Given the description of an element on the screen output the (x, y) to click on. 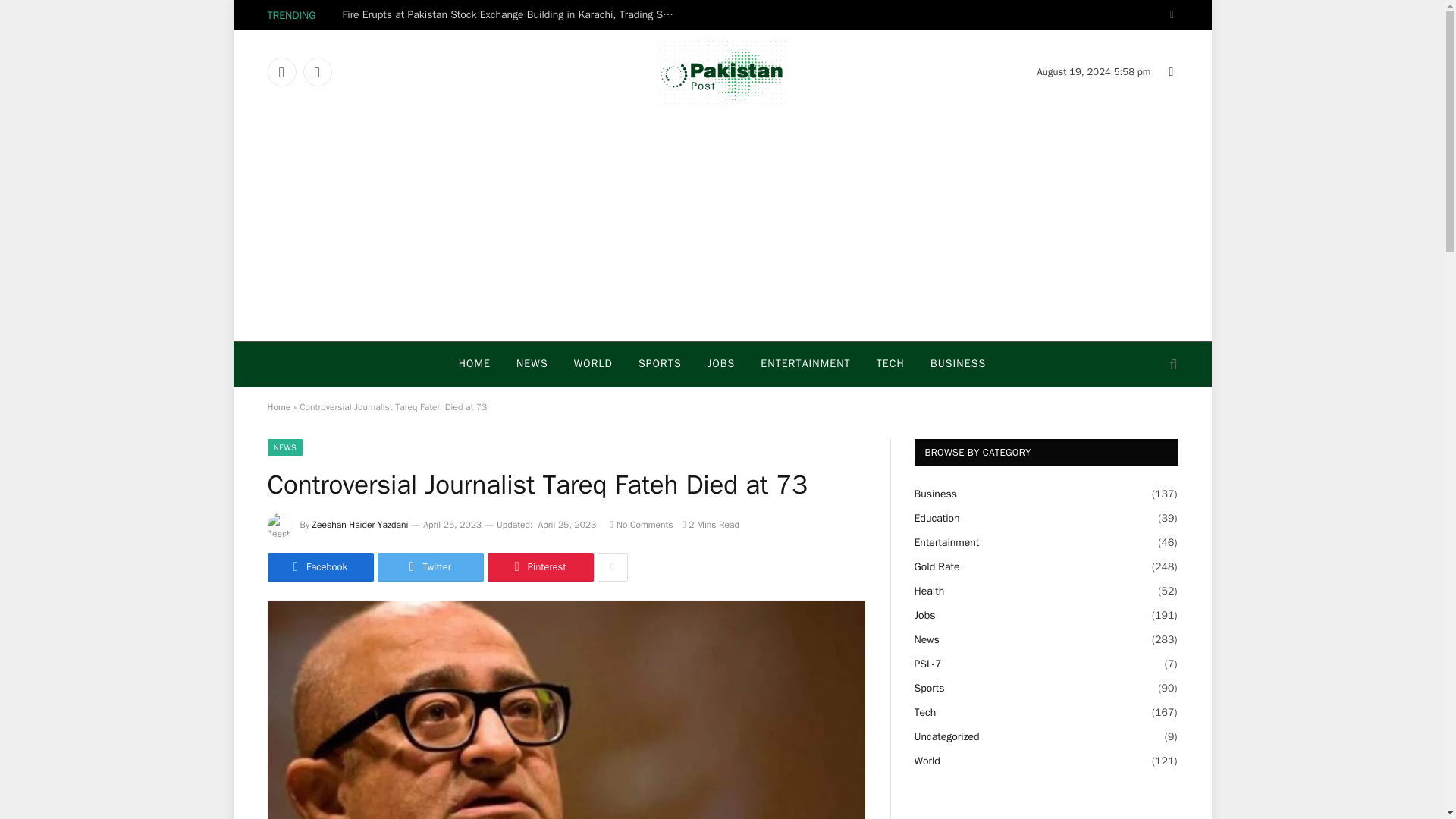
Home (277, 407)
Pinterest (539, 566)
HOME (474, 364)
BUSINESS (957, 364)
NEWS (531, 364)
Zeeshan Haider Yazdani (361, 524)
Share on Pinterest (539, 566)
Switch to Dark Design - easier on eyes. (1169, 14)
